Given the description of an element on the screen output the (x, y) to click on. 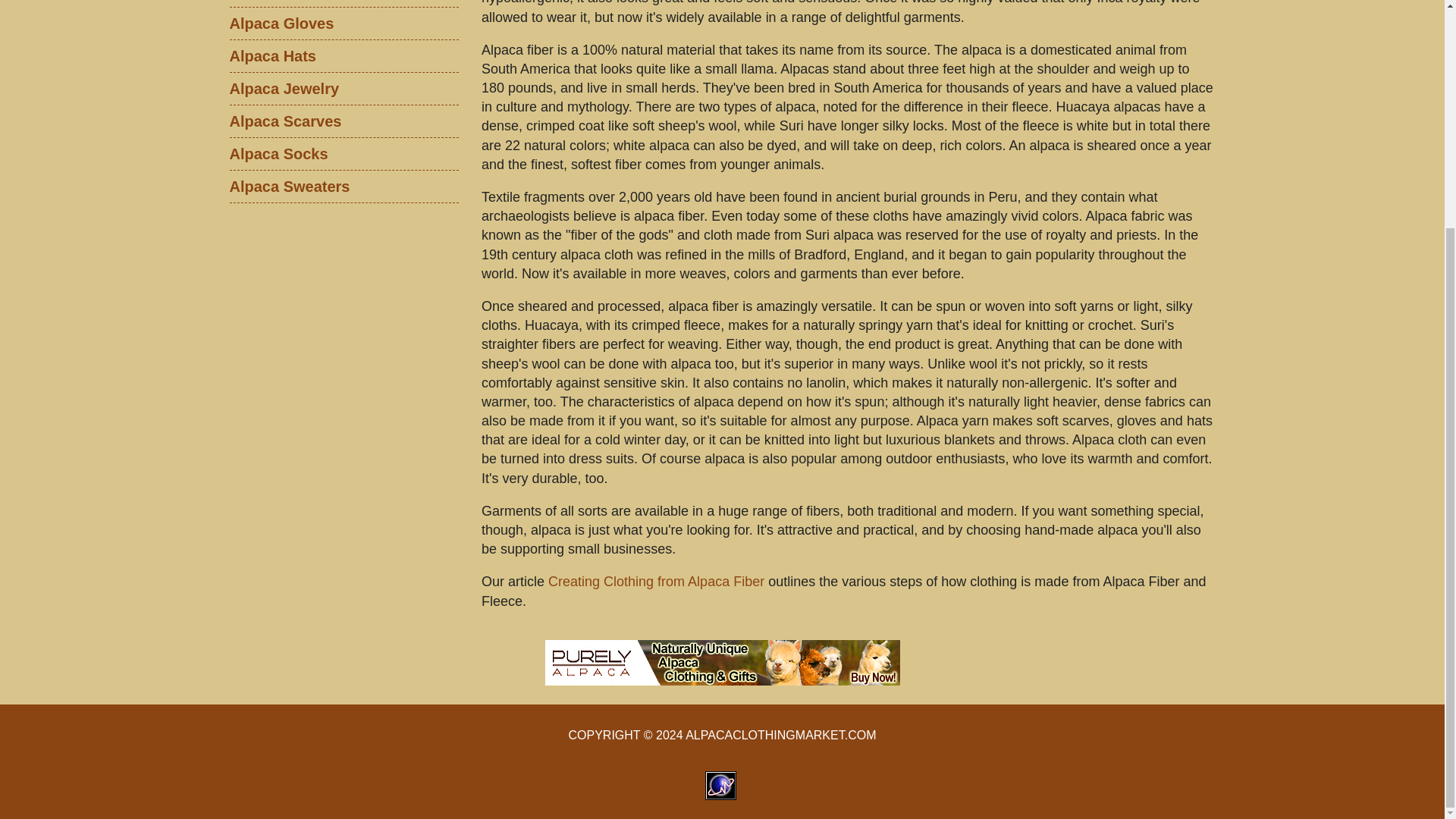
Alpaca Sweaters (343, 186)
Alpaca Hats (343, 55)
Creating Clothing from Alpaca Fiber (656, 581)
Alpaca Socks (343, 153)
Alpaca Coats (343, 3)
Alpaca Gloves (343, 22)
PurelyAlpaca (721, 662)
Alpaca Jewelry (343, 88)
Alpaca Scarves (343, 120)
